Given the description of an element on the screen output the (x, y) to click on. 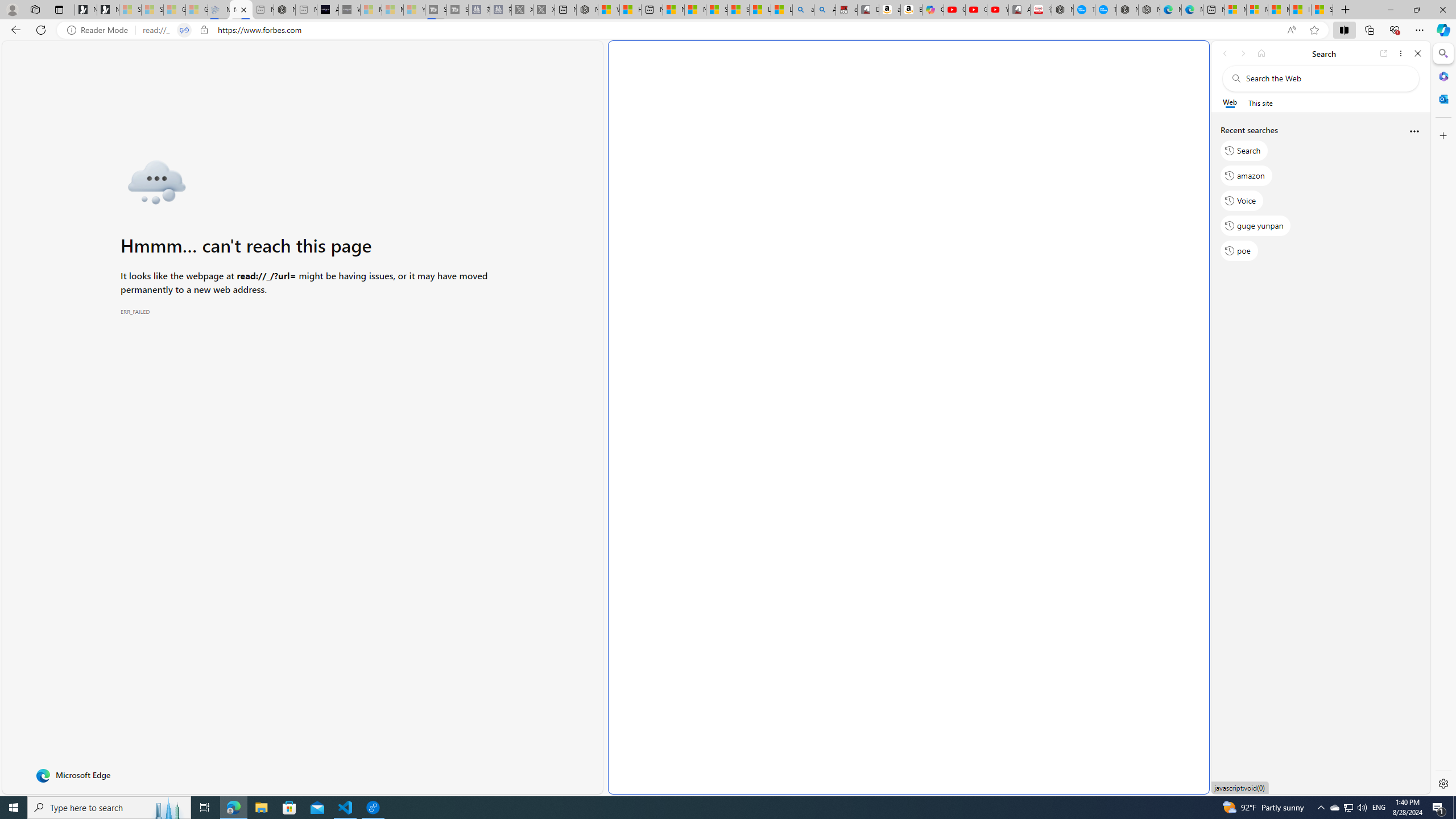
Nordace - My Account (1062, 9)
Tabs in split screen (184, 29)
Customize (1442, 135)
More options (1414, 132)
New tab - Sleeping (306, 9)
View site information (203, 29)
Nordace - Nordace has arrived Hong Kong (1149, 9)
Recent searchesSearchamazonVoiceguge yunpanpoe (1320, 194)
